Given the description of an element on the screen output the (x, y) to click on. 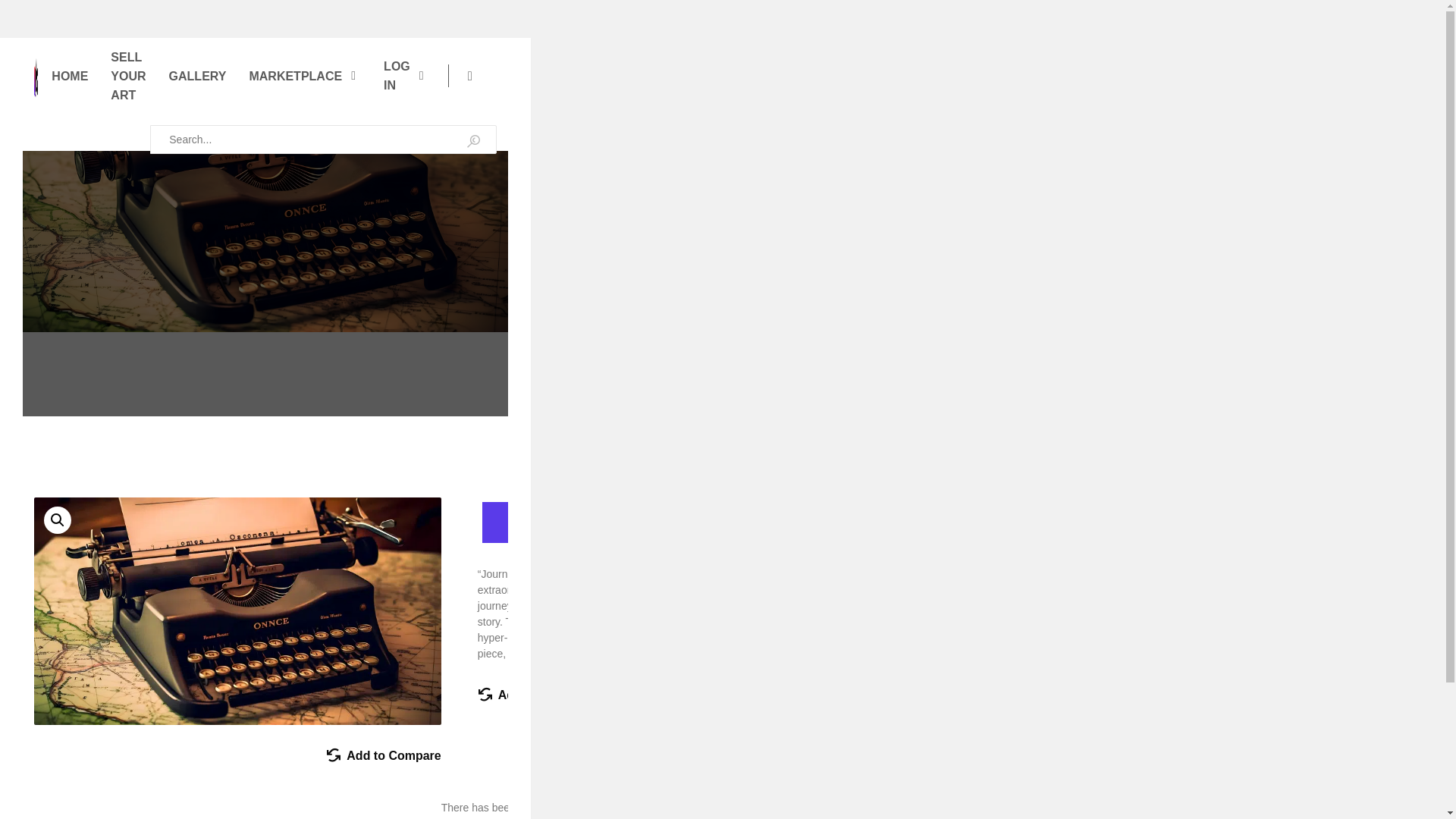
HOME (68, 75)
GALLERY (197, 75)
MARKETPLACE (304, 75)
